Given the description of an element on the screen output the (x, y) to click on. 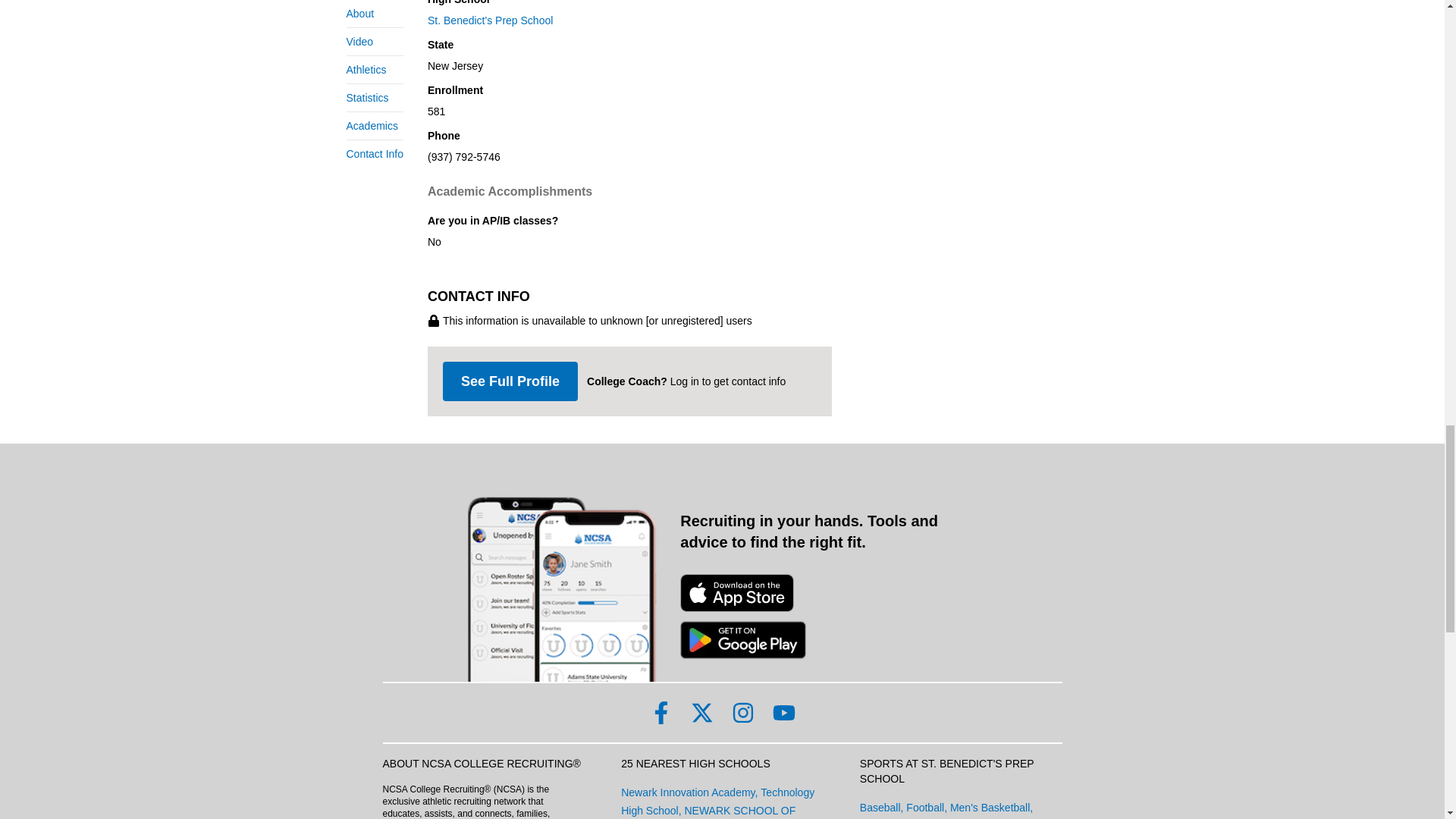
Follow us on Facebook. (660, 712)
Follow us on X. (701, 712)
St. Benedict's Prep School (629, 20)
Newark Innovation Academy (687, 792)
Follow us on Instagram. (742, 712)
See Full Profile (510, 381)
Follow us on YouTube. (782, 712)
Technology High School (717, 801)
